Given the description of an element on the screen output the (x, y) to click on. 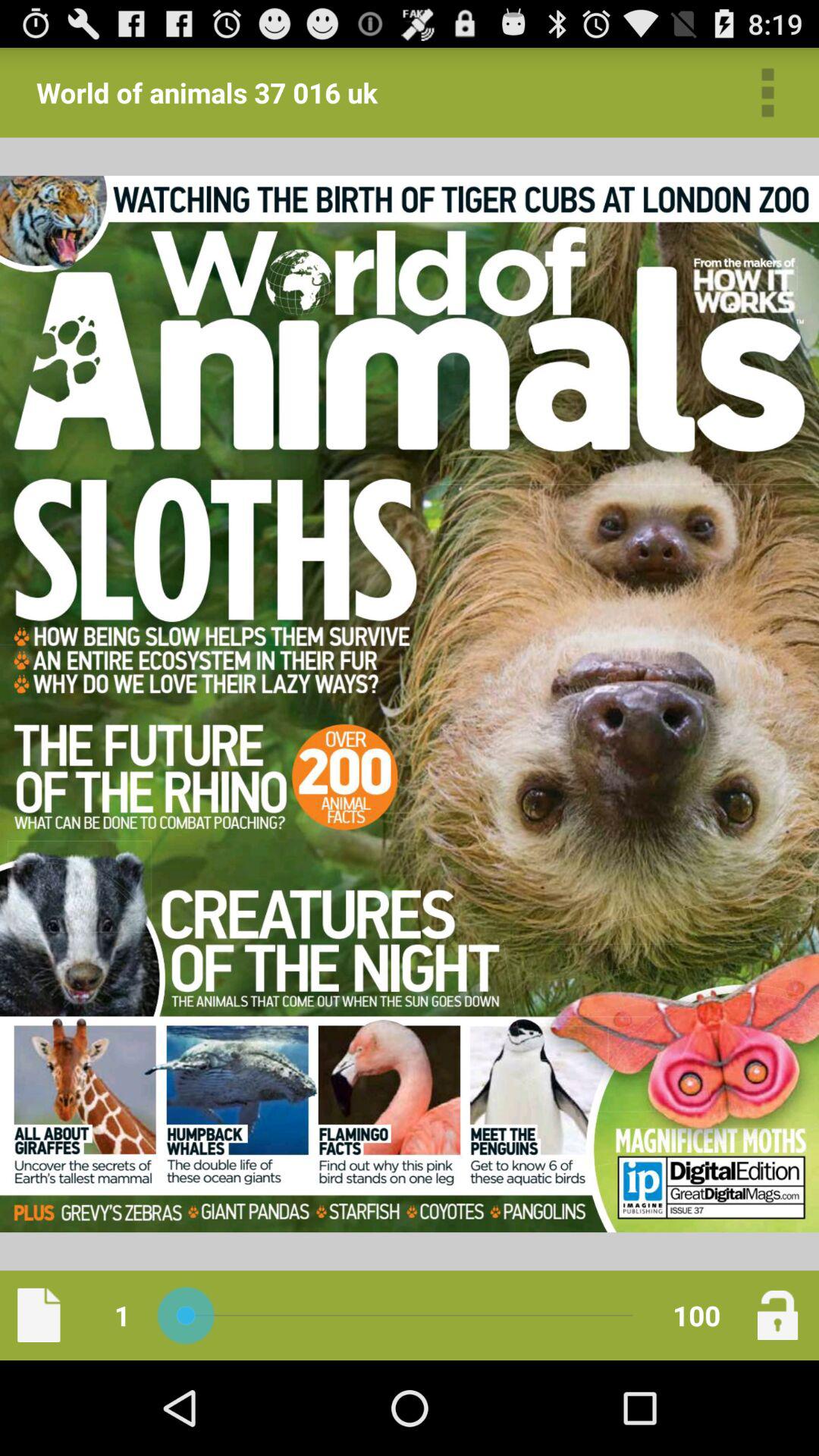
open the app next to 100 app (777, 1315)
